Given the description of an element on the screen output the (x, y) to click on. 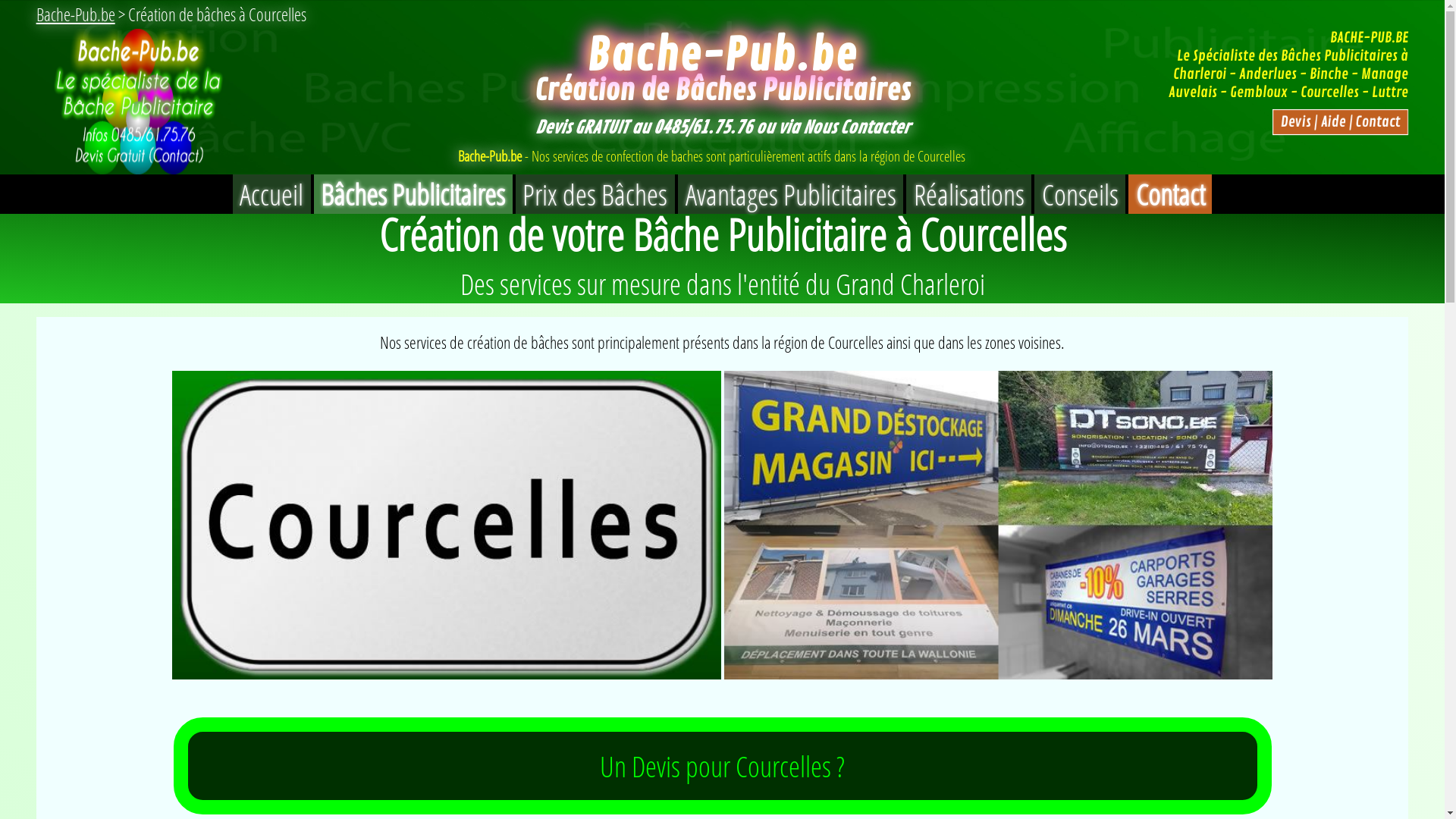
Contact Element type: text (1169, 193)
Un Devis pour Courcelles ? Element type: text (722, 765)
Avantages Publicitaires Element type: text (790, 193)
Bache-Pub.be Element type: text (75, 14)
Devis | Aide | Contact Element type: text (1330, 119)
Conseils Element type: text (1079, 193)
Accueil Element type: text (271, 193)
